Given the description of an element on the screen output the (x, y) to click on. 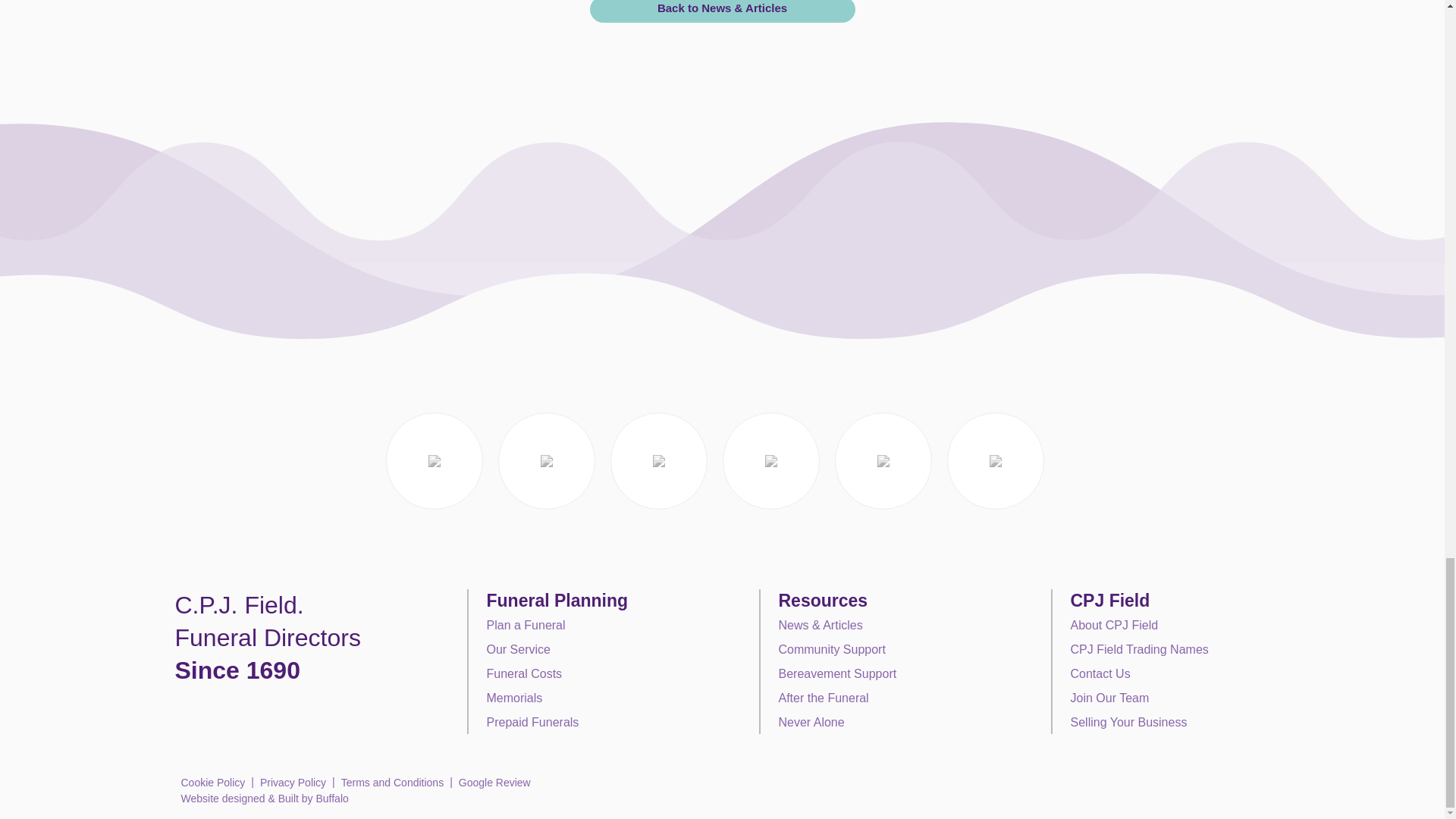
LinkedIn (247, 711)
Twitter (198, 712)
Instagram (223, 711)
